Given the description of an element on the screen output the (x, y) to click on. 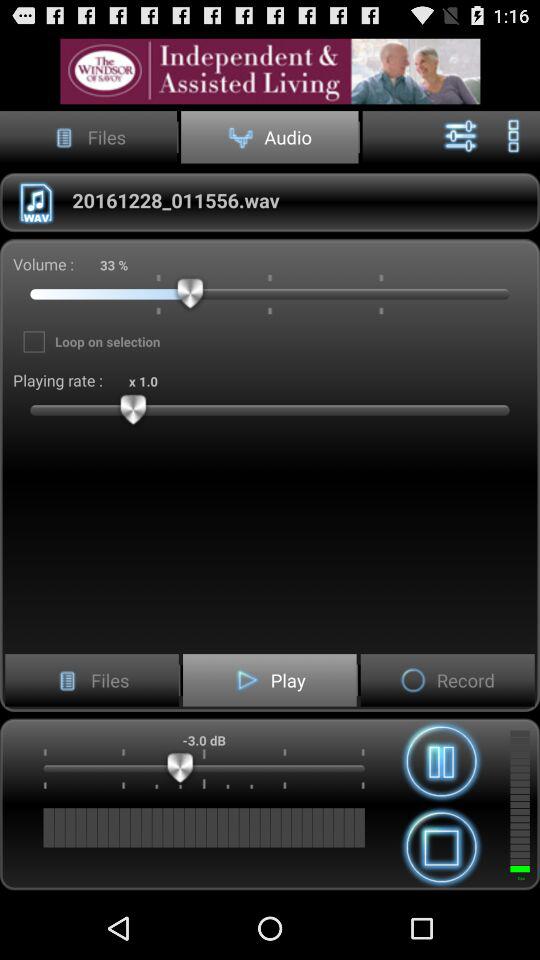
see advertisement (270, 70)
